Given the description of an element on the screen output the (x, y) to click on. 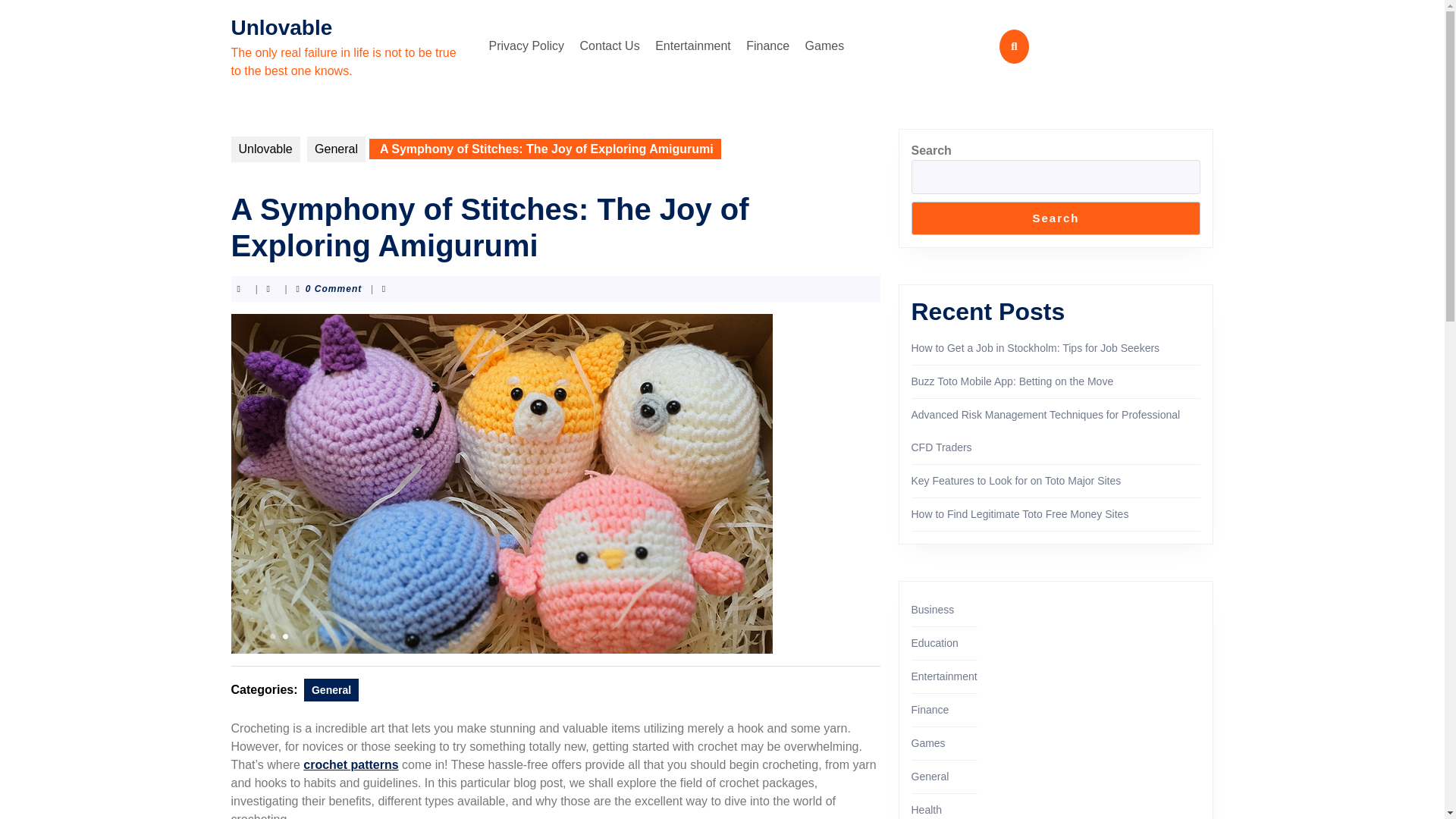
General (331, 689)
Finance (930, 709)
Games (824, 46)
Education (934, 643)
How to Get a Job in Stockholm: Tips for Job Seekers (1035, 347)
Key Features to Look for on Toto Major Sites (1016, 480)
Contact Us (609, 46)
Health (926, 809)
Entertainment (943, 676)
Unlovable (280, 27)
Business (933, 609)
Search (1056, 218)
How to Find Legitimate Toto Free Money Sites (1020, 513)
crochet patterns (349, 764)
Buzz Toto Mobile App: Betting on the Move (1012, 381)
